Given the description of an element on the screen output the (x, y) to click on. 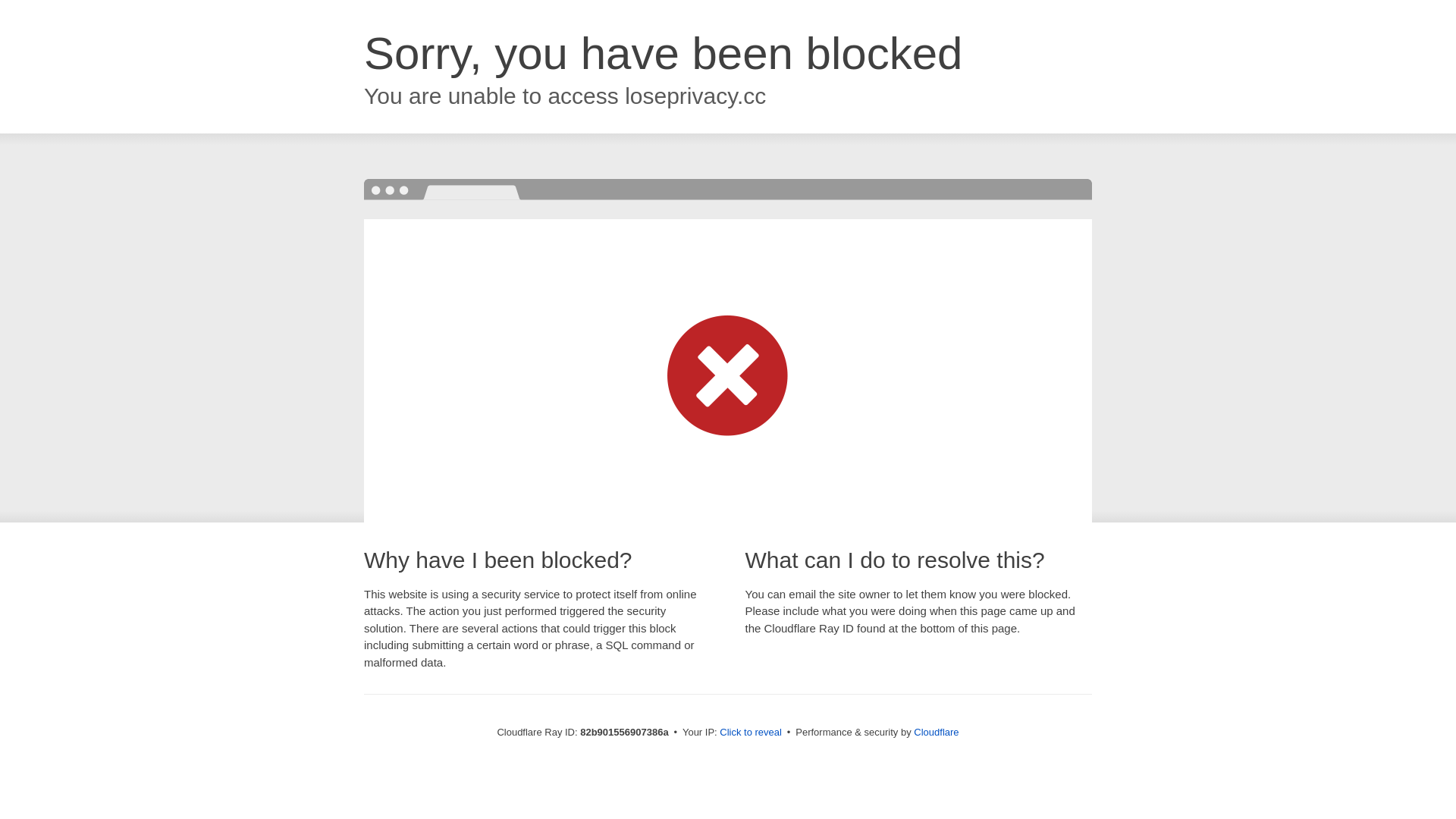
Cloudflare Element type: text (935, 731)
Click to reveal Element type: text (750, 732)
